Given the description of an element on the screen output the (x, y) to click on. 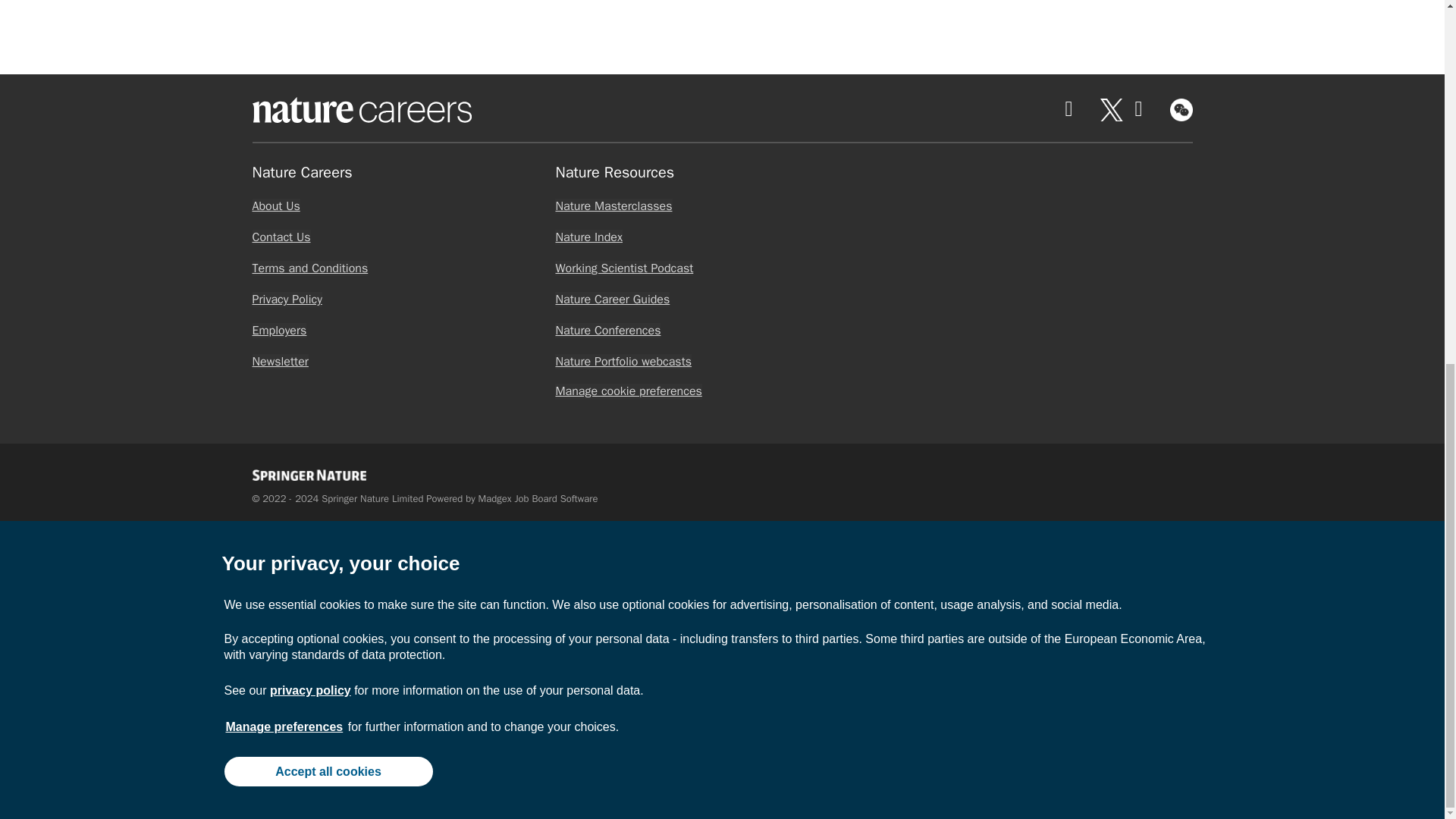
Nature Career Guides (611, 299)
Nature Index (588, 237)
Employers (278, 330)
Nature Masterclasses (612, 206)
Terms and Conditions (309, 268)
Manage preferences (284, 74)
Contact Us (280, 237)
privacy policy (309, 38)
Newsletter (279, 361)
Privacy Policy (286, 299)
